Given the description of an element on the screen output the (x, y) to click on. 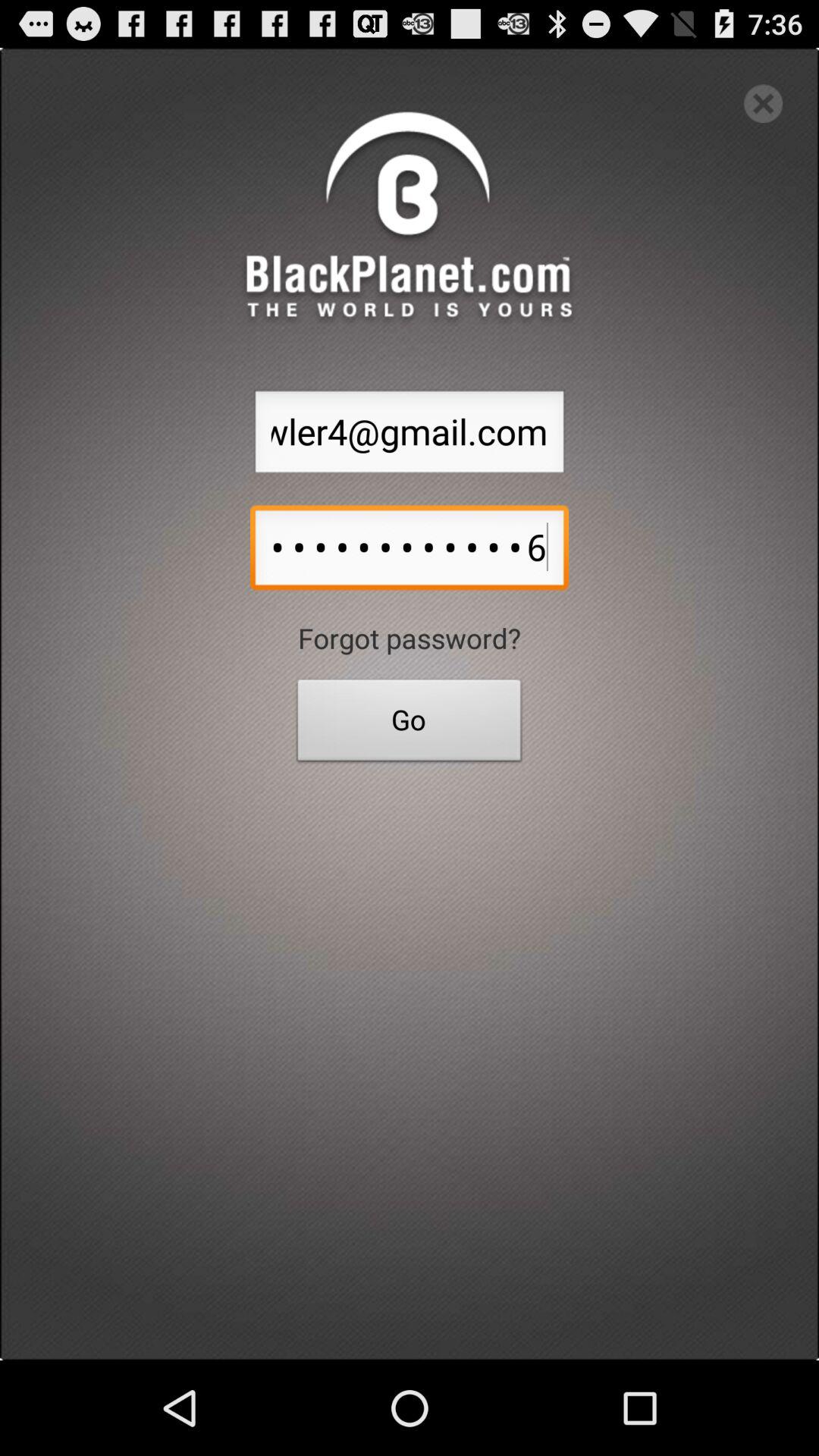
exit out of page (763, 103)
